Given the description of an element on the screen output the (x, y) to click on. 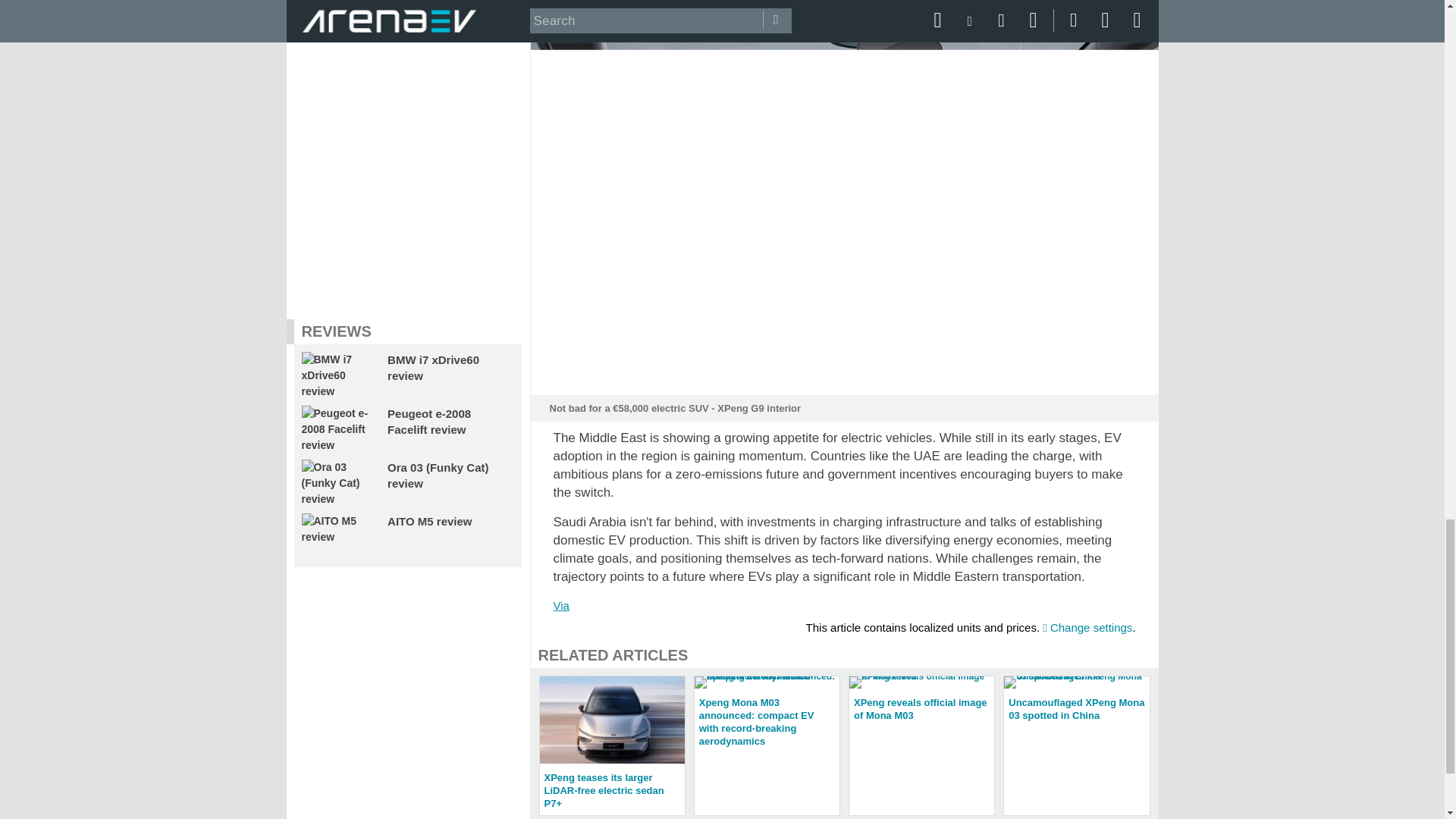
Via (561, 604)
XPeng reveals official image of Mona M03 (921, 701)
Change settings (1087, 626)
Uncamouflaged XPeng Mona 03 spotted in China (1076, 701)
